Given the description of an element on the screen output the (x, y) to click on. 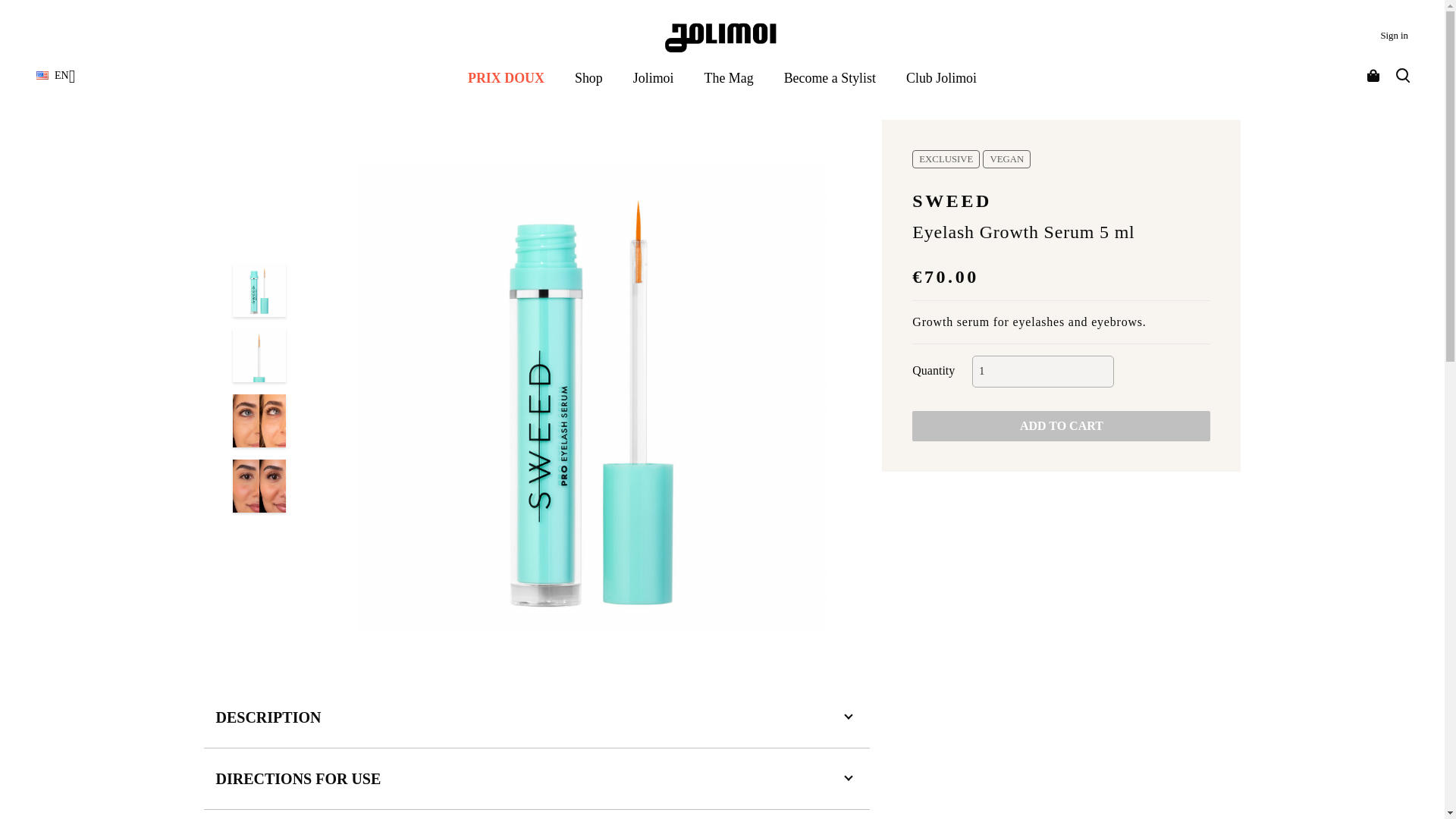
PRIX DOUX (505, 77)
Eyelash Growth Serum 5 ml - Sweed (258, 355)
Eyelash Growth Serum 5 ml - Sweed (258, 289)
1 (1042, 371)
Shop (588, 77)
Log in to your customer account (1393, 35)
Eyelash Growth Serum 5 ml - Sweed (258, 485)
Eyelash Growth Serum 5 ml - Sweed (258, 420)
